Given the description of an element on the screen output the (x, y) to click on. 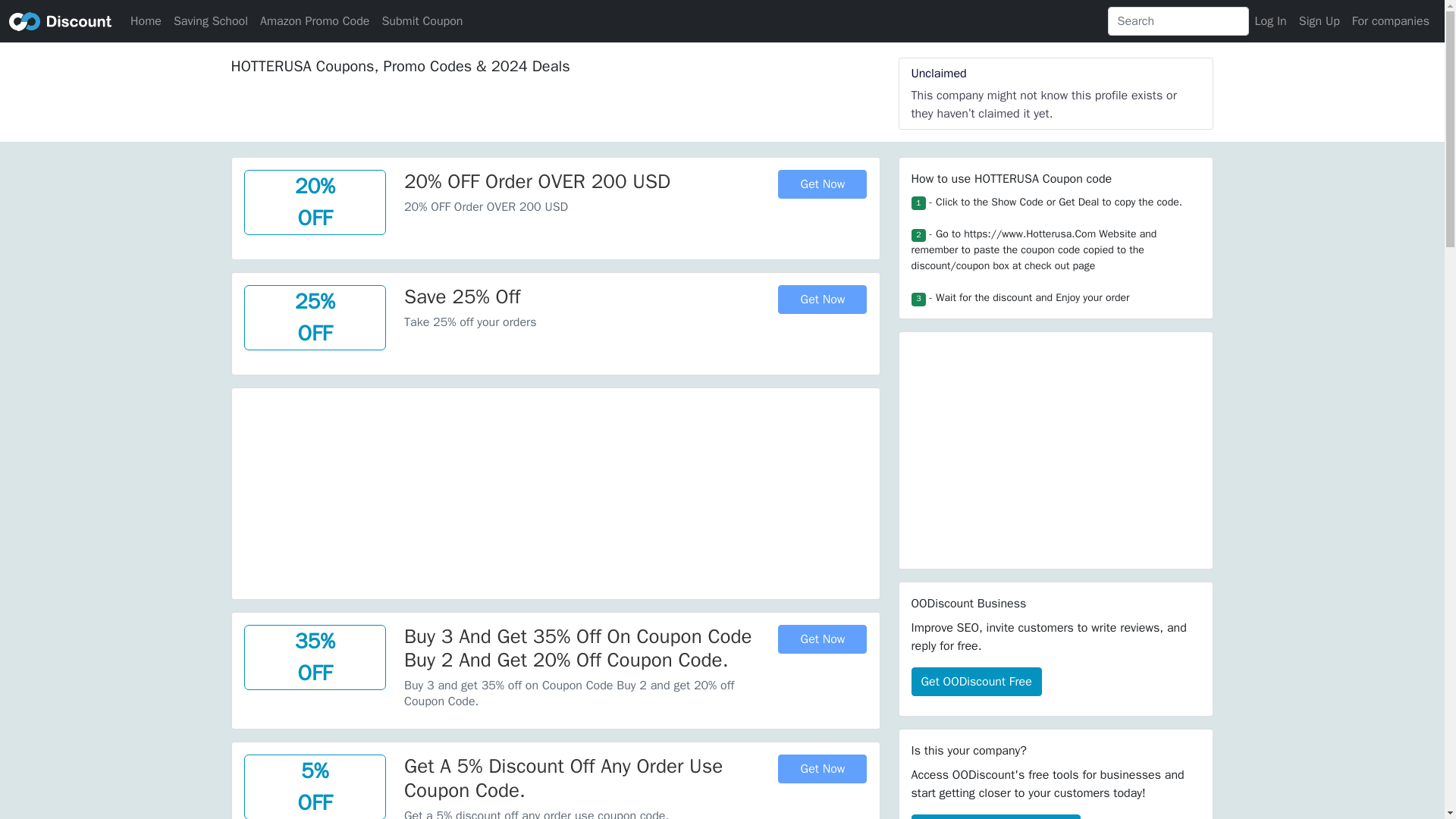
Get Now (821, 299)
Sign Up (1318, 20)
Advertisement (555, 494)
Get Now (821, 184)
oodiscount (60, 20)
For companies (1390, 20)
Get Now (821, 768)
Get Now (821, 638)
Amazon Promo Code (314, 20)
Saving School (210, 20)
Home (145, 20)
Log In (1270, 20)
Submit Coupon (421, 20)
